Given the description of an element on the screen output the (x, y) to click on. 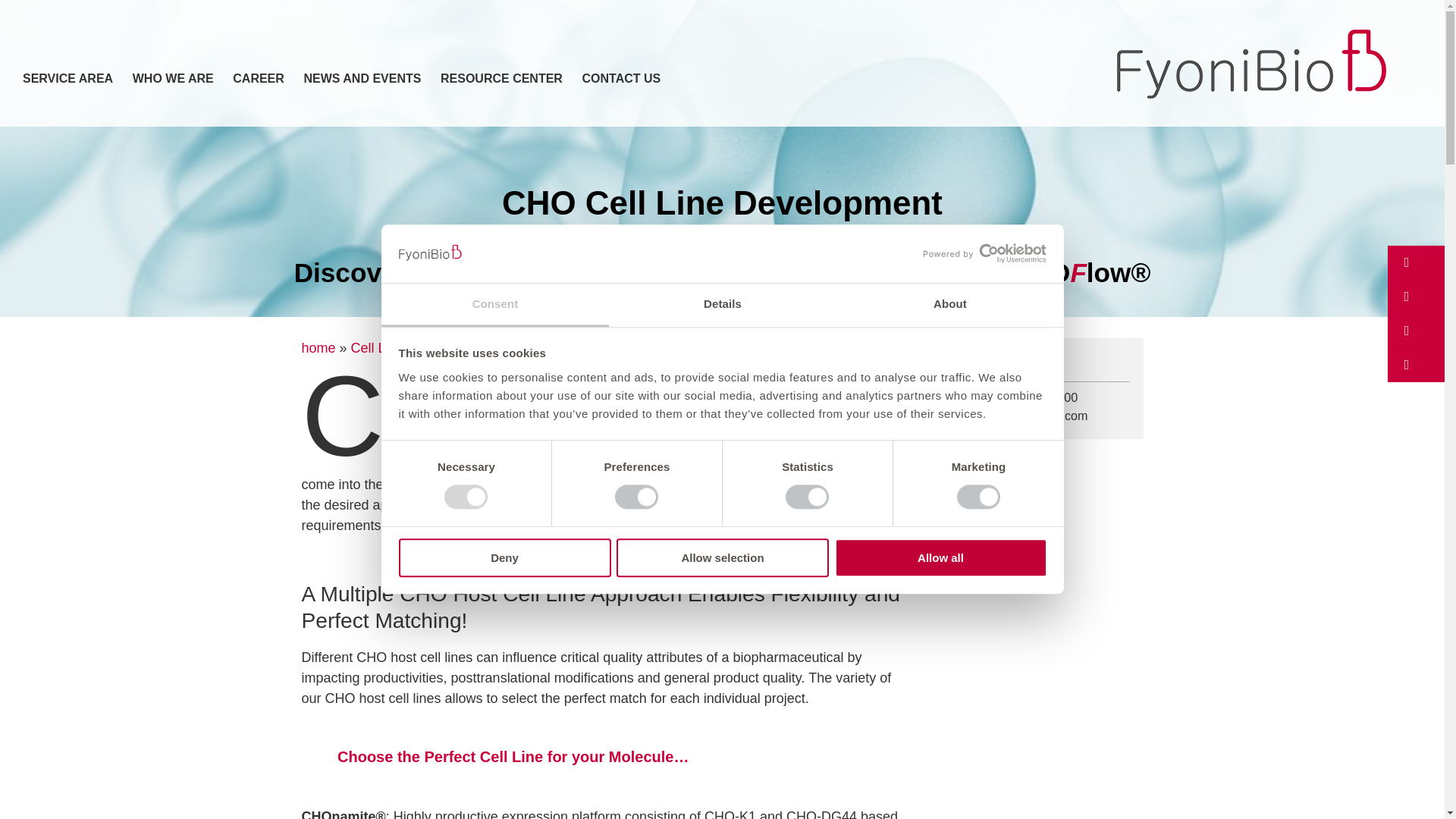
About (948, 304)
SERVICE AREA (68, 78)
Consent (494, 304)
Allow all (940, 557)
Deny (503, 557)
Allow selection (721, 557)
FyoniBio GmbH (1251, 63)
Details (721, 304)
